Given the description of an element on the screen output the (x, y) to click on. 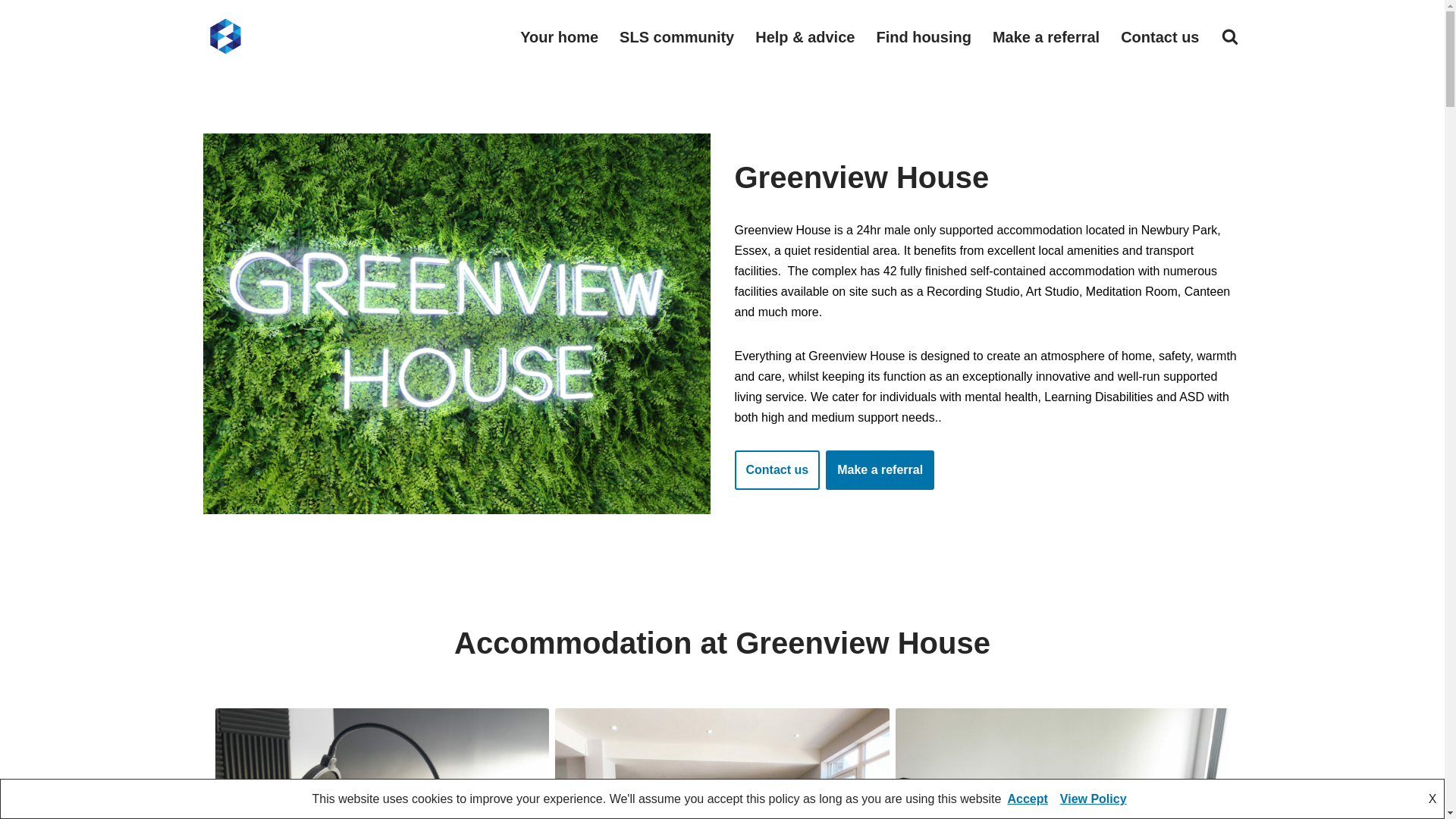
Contact us (776, 469)
Contact us (1159, 36)
Make a referral (879, 469)
Your home (558, 36)
SLS community (676, 36)
Skip to content (11, 31)
Find housing (923, 36)
Make a referral (1045, 36)
